Given the description of an element on the screen output the (x, y) to click on. 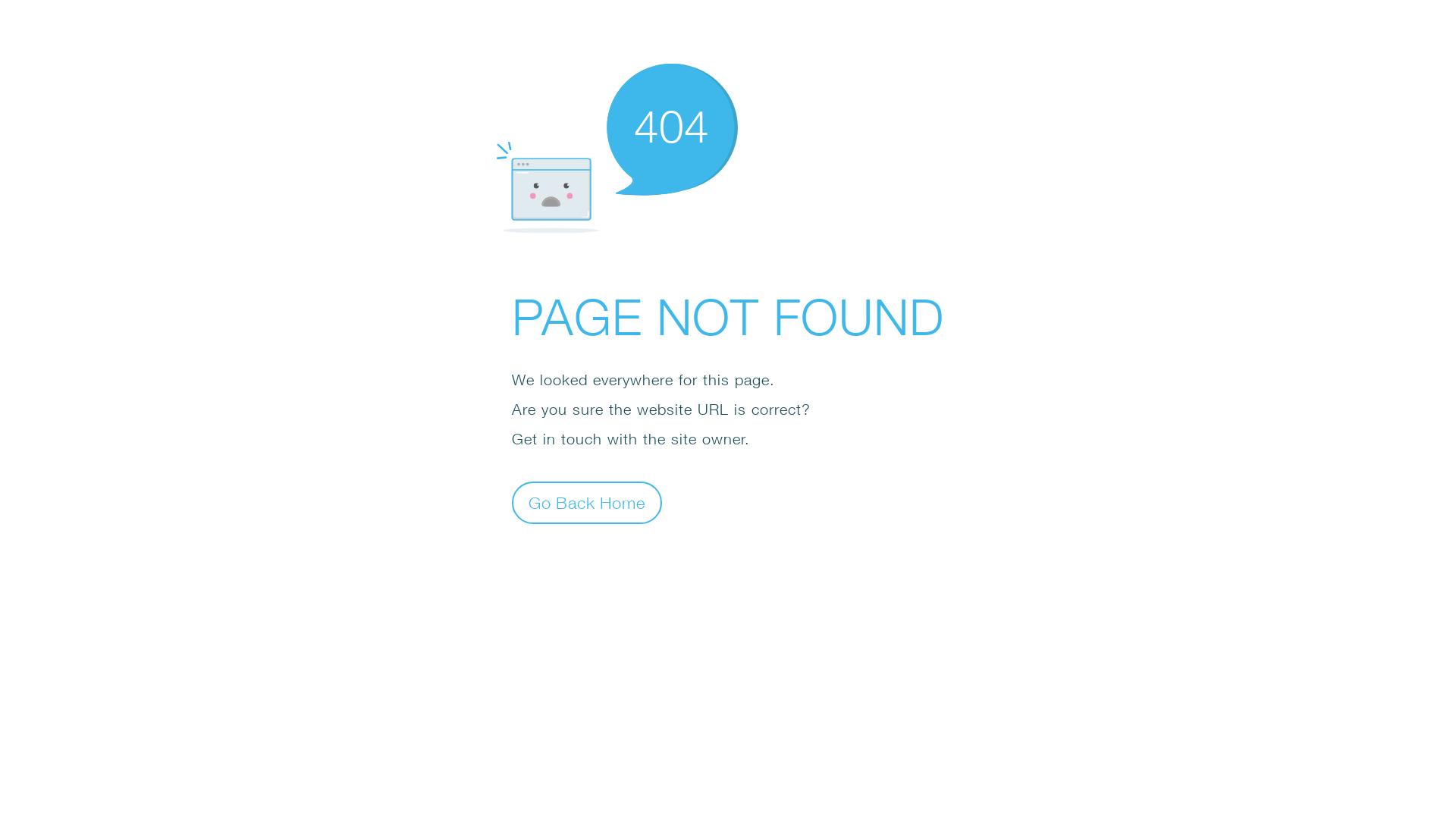
Go Back Home Element type: text (586, 502)
